Given the description of an element on the screen output the (x, y) to click on. 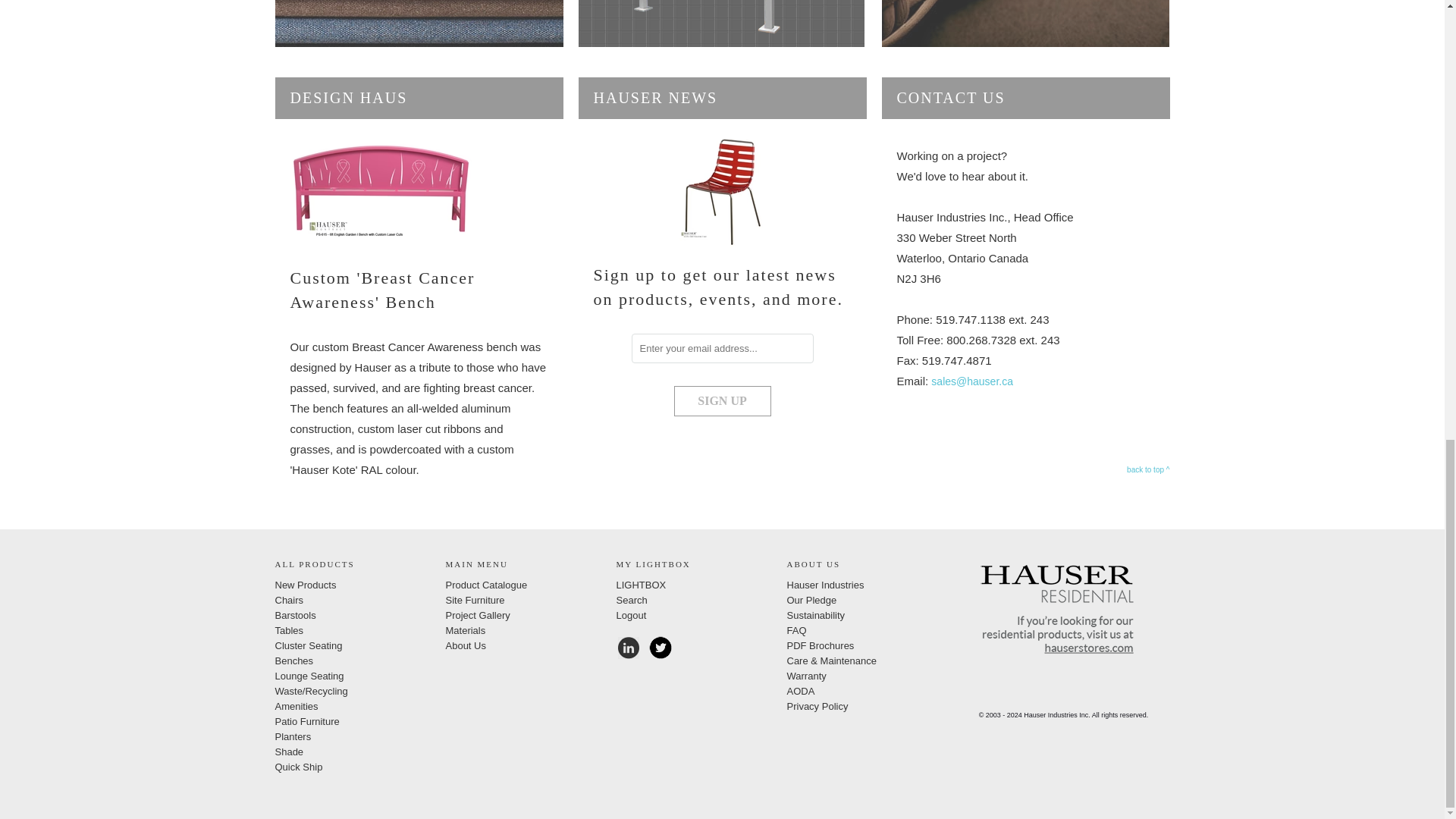
Sign Up (721, 399)
